Given the description of an element on the screen output the (x, y) to click on. 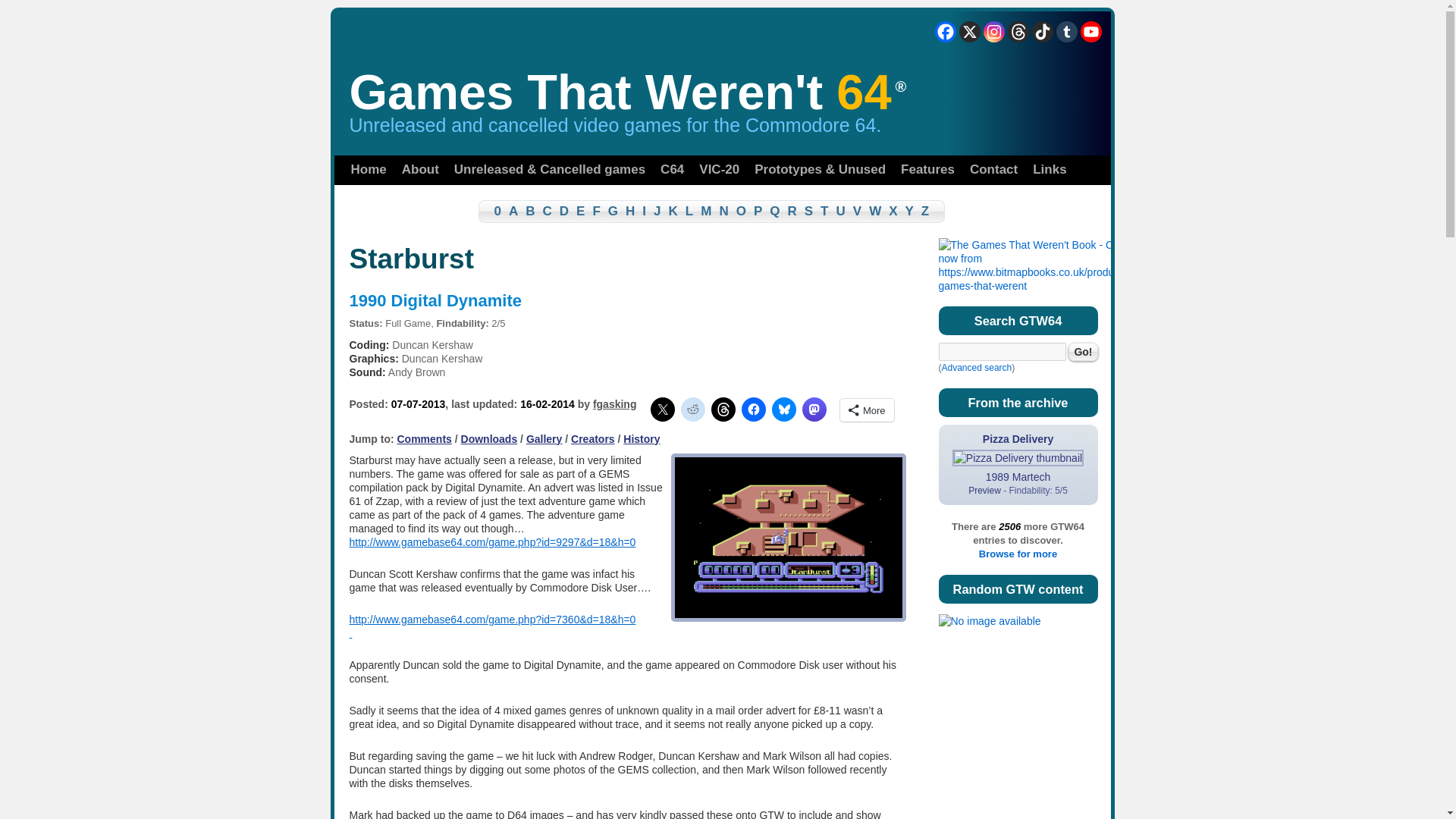
X (968, 31)
TikTok (1041, 31)
Various other site features and interviews (927, 169)
Youtube Channel (1090, 31)
Commodore Vic 20 unreleased games area (718, 169)
Threads (1017, 31)
Facebook (944, 31)
Instagram (993, 31)
Links (1049, 169)
0 (490, 210)
